Given the description of an element on the screen output the (x, y) to click on. 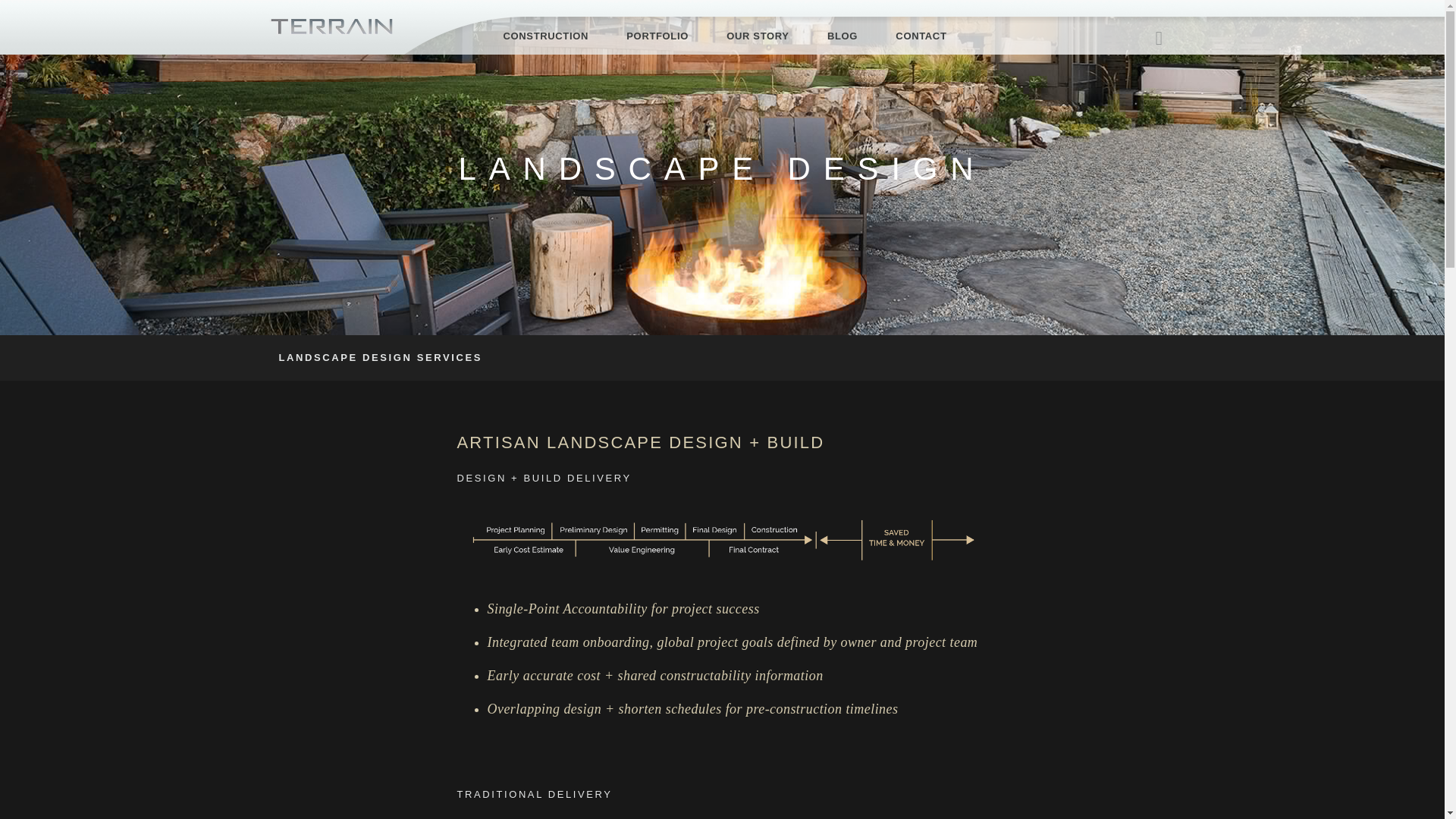
CONTACT (911, 36)
BLOG (842, 36)
PORTFOLIO (657, 36)
Construction (555, 36)
CONSTRUCTION (555, 36)
Our Story (757, 36)
OUR STORY (757, 36)
Blog (842, 36)
Portfolio (657, 36)
Contact (911, 36)
